Given the description of an element on the screen output the (x, y) to click on. 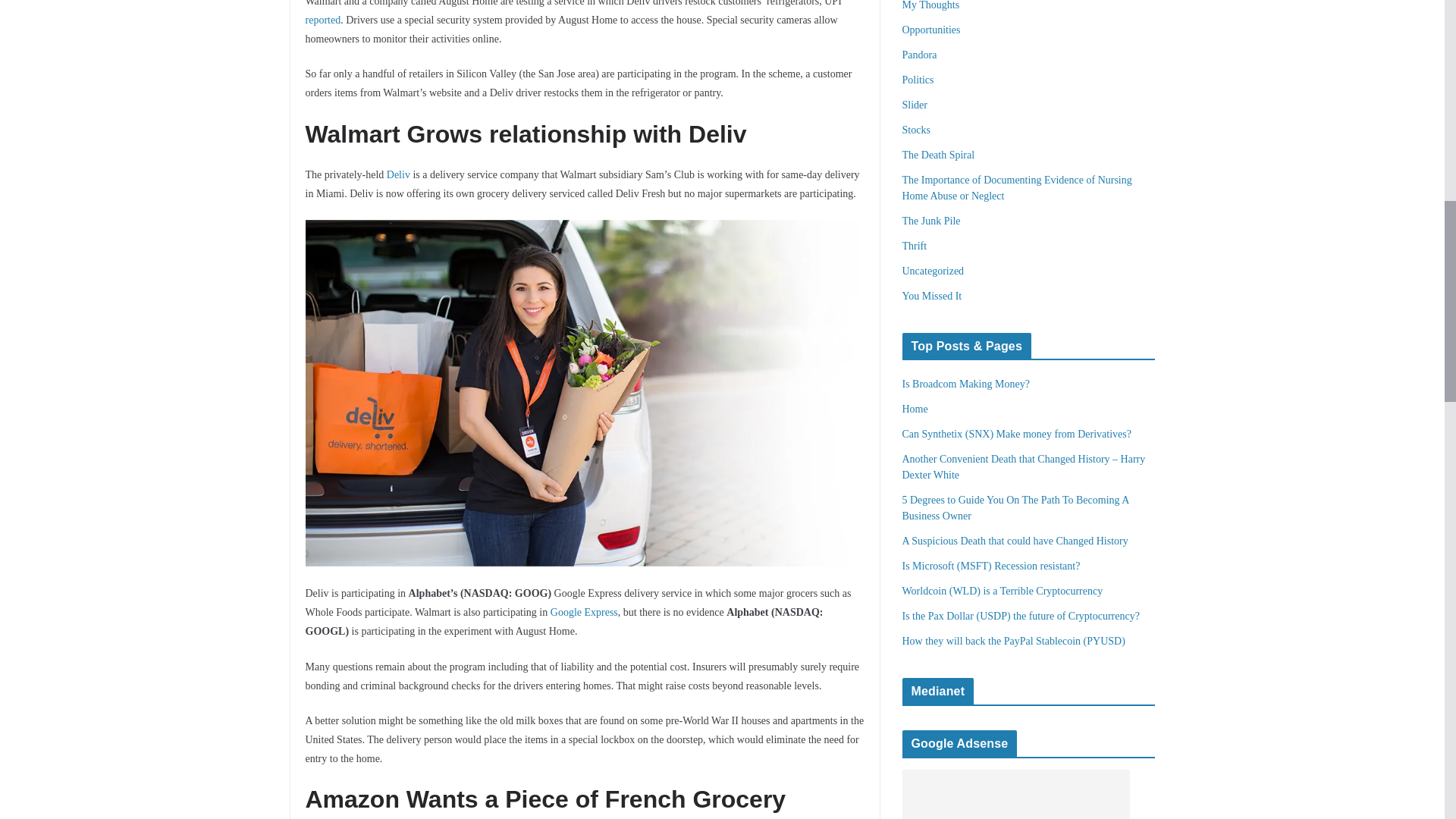
Deliv (398, 174)
reported (322, 19)
Google Express (583, 612)
